Given the description of an element on the screen output the (x, y) to click on. 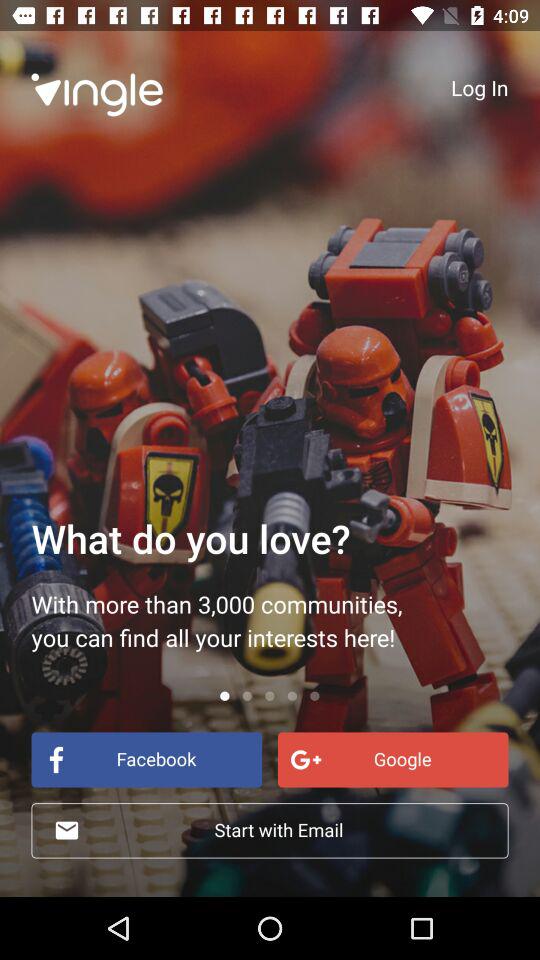
choose facebook at the bottom left corner (146, 759)
